Given the description of an element on the screen output the (x, y) to click on. 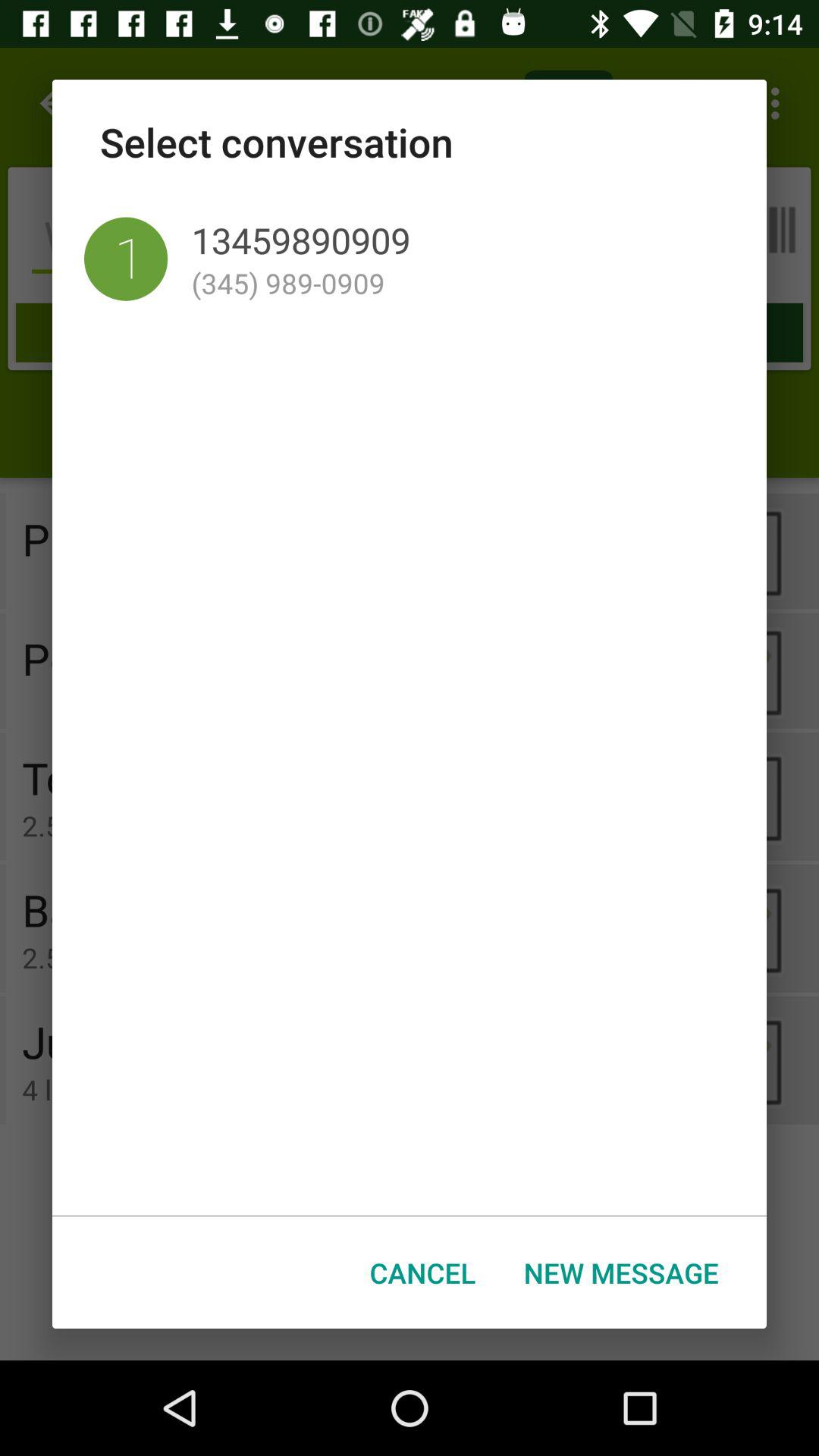
jump until the new message icon (620, 1272)
